Given the description of an element on the screen output the (x, y) to click on. 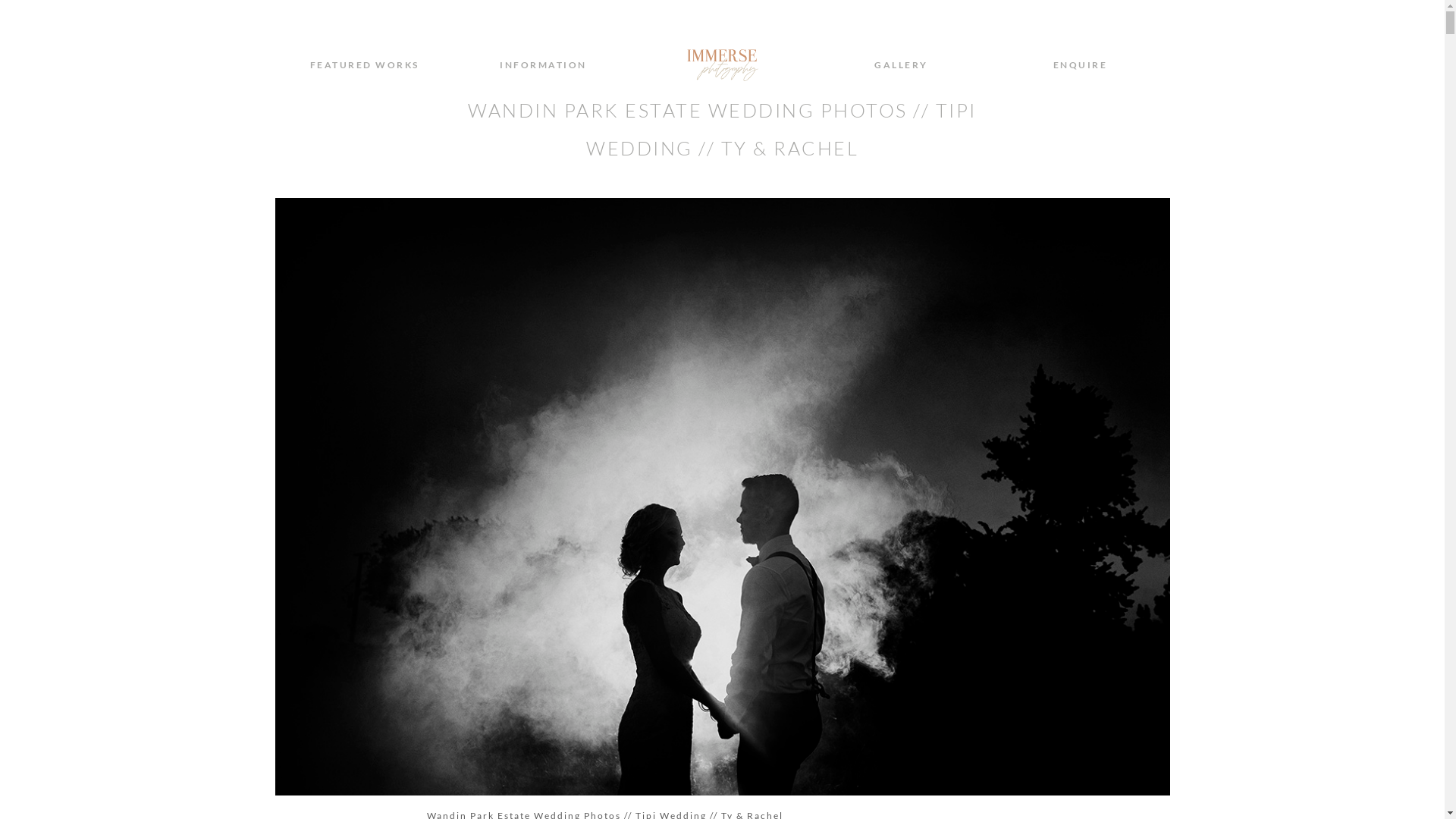
INFORMATION Element type: text (542, 64)
FEATURED WORKS Element type: text (363, 64)
GALLERY Element type: text (901, 64)
ENQUIRE Element type: text (1080, 64)
